Given the description of an element on the screen output the (x, y) to click on. 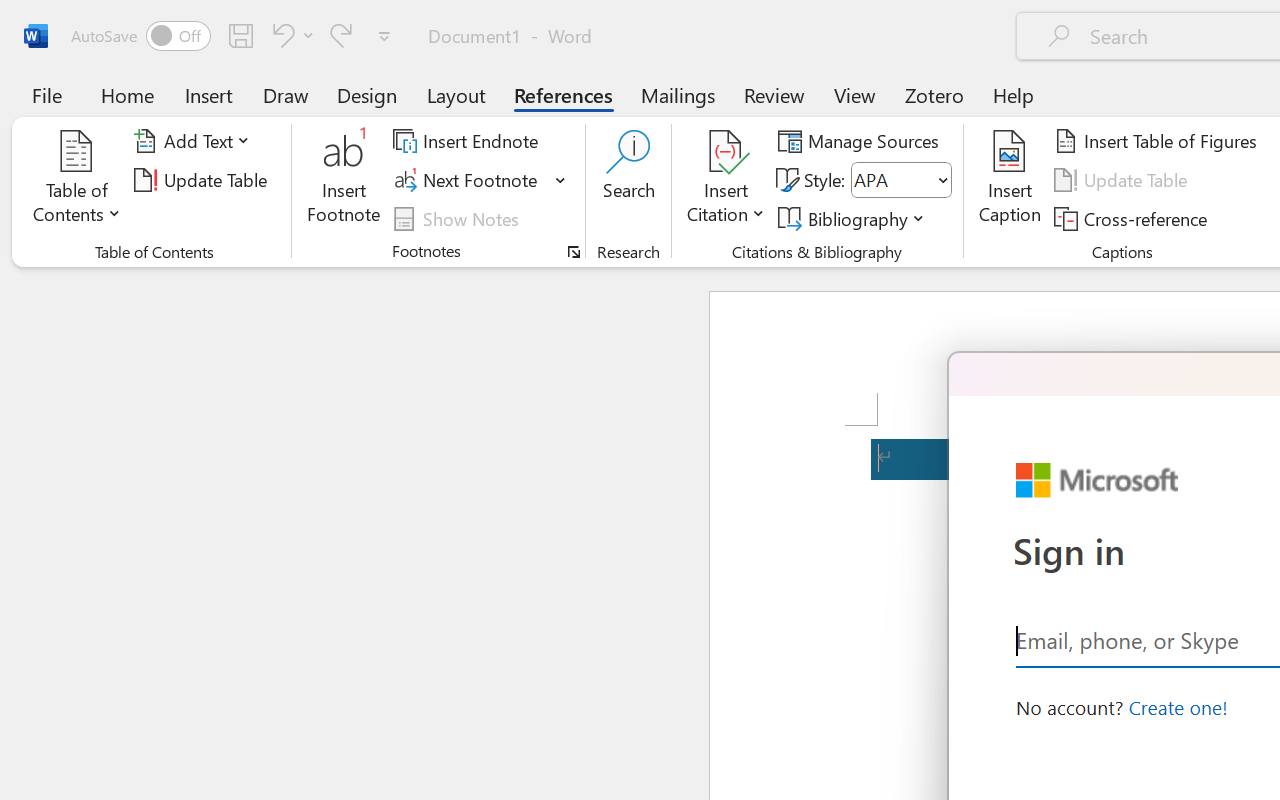
Undo Apply Quick Style Set (290, 35)
Next Footnote (468, 179)
Insert Endnote (468, 141)
Update Table (1124, 179)
Cross-reference... (1133, 218)
Footnote and Endnote Dialog... (573, 252)
Style (901, 179)
Insert Table of Figures... (1158, 141)
